Given the description of an element on the screen output the (x, y) to click on. 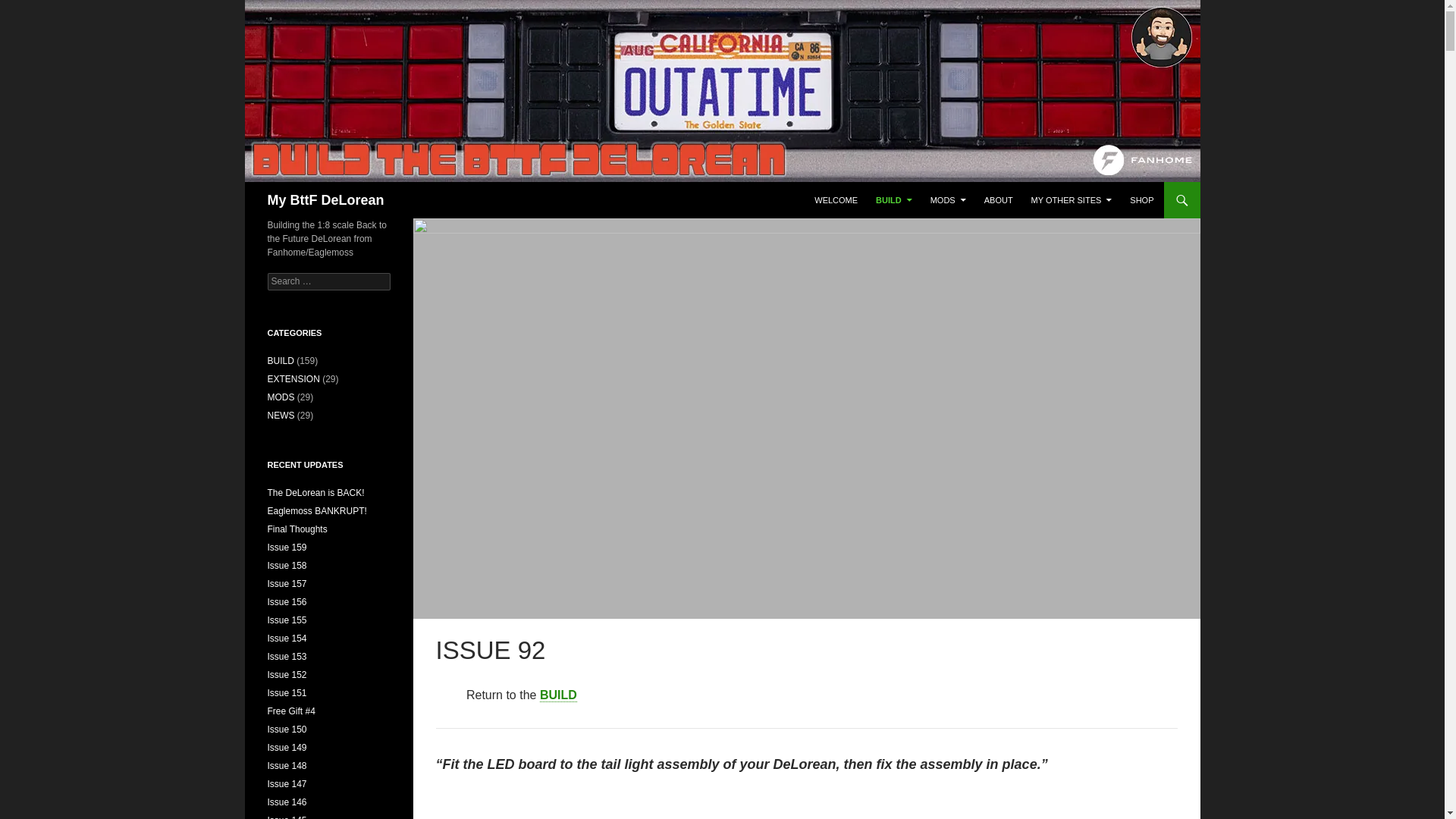
WELCOME (835, 199)
My BttF DeLorean (325, 199)
BUILD (893, 199)
